Given the description of an element on the screen output the (x, y) to click on. 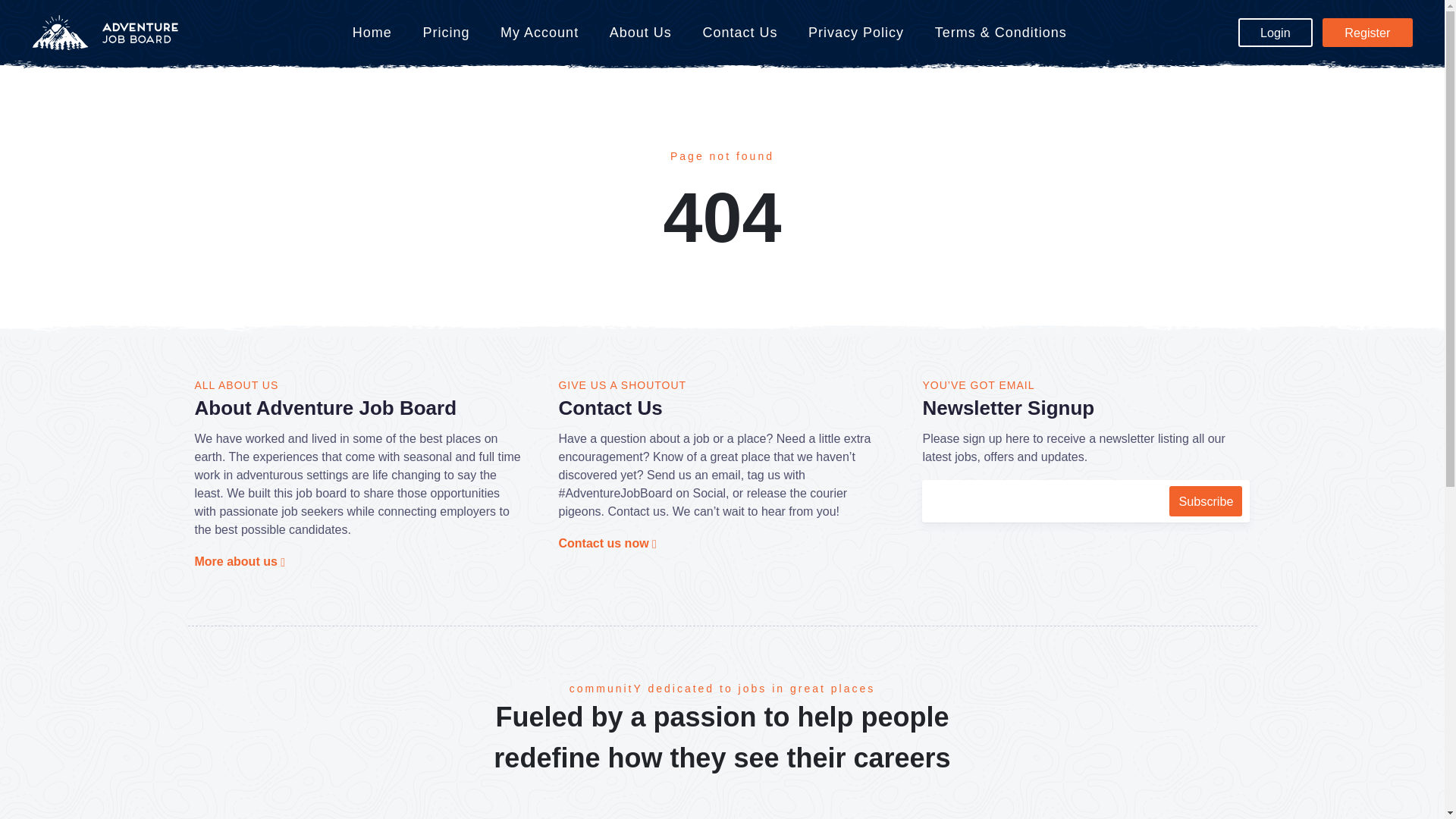
Login (1276, 32)
My Account (539, 32)
Pricing (445, 32)
Home (372, 32)
About Us (640, 32)
Subscribe (1205, 501)
Contact Us (740, 32)
Subscribe (1205, 501)
Contact us now (606, 543)
Register (1367, 32)
Privacy Policy (855, 32)
More about us (239, 561)
